Given the description of an element on the screen output the (x, y) to click on. 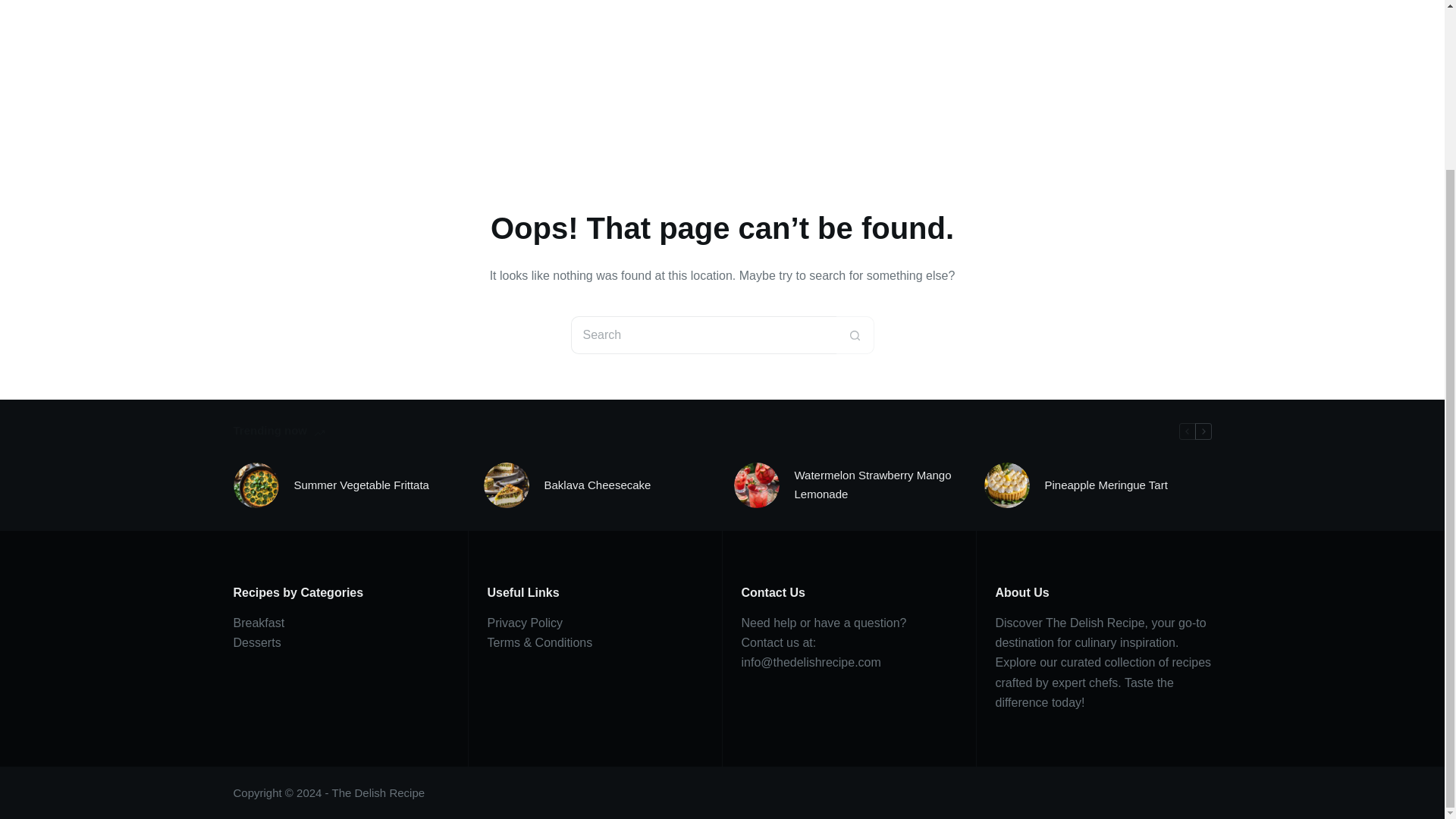
Privacy Policy (524, 622)
Desserts (256, 642)
Summer Vegetable Frittata (361, 485)
Watermelon Strawberry Mango Lemonade (877, 485)
Pineapple Meringue Tart (1106, 485)
Search for... (702, 334)
Baklava Cheesecake (597, 485)
Breakfast (258, 622)
